Given the description of an element on the screen output the (x, y) to click on. 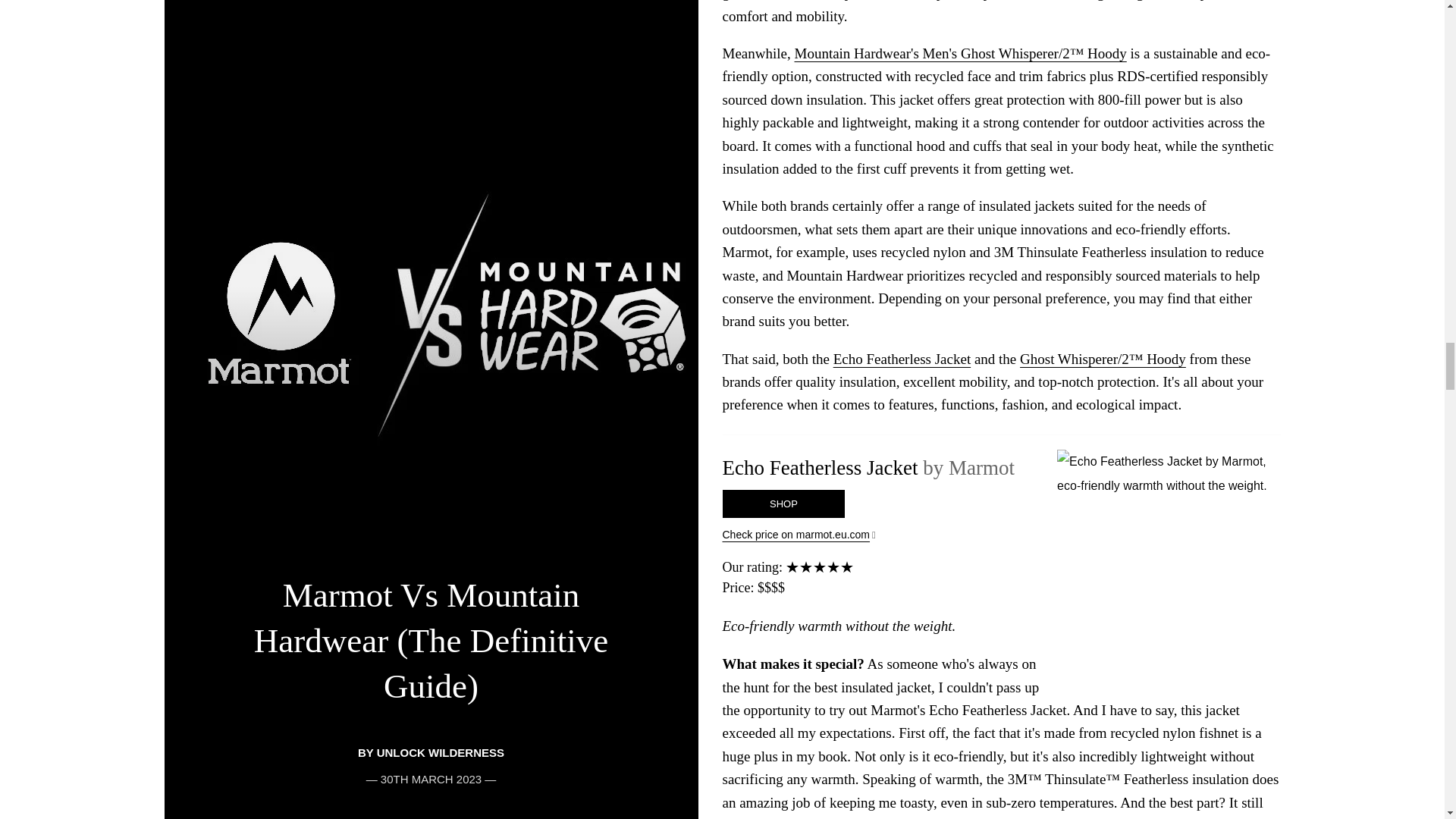
Check price on marmot.eu.com (1000, 534)
SHOP (783, 503)
Echo Featherless Jacket (901, 358)
